Given the description of an element on the screen output the (x, y) to click on. 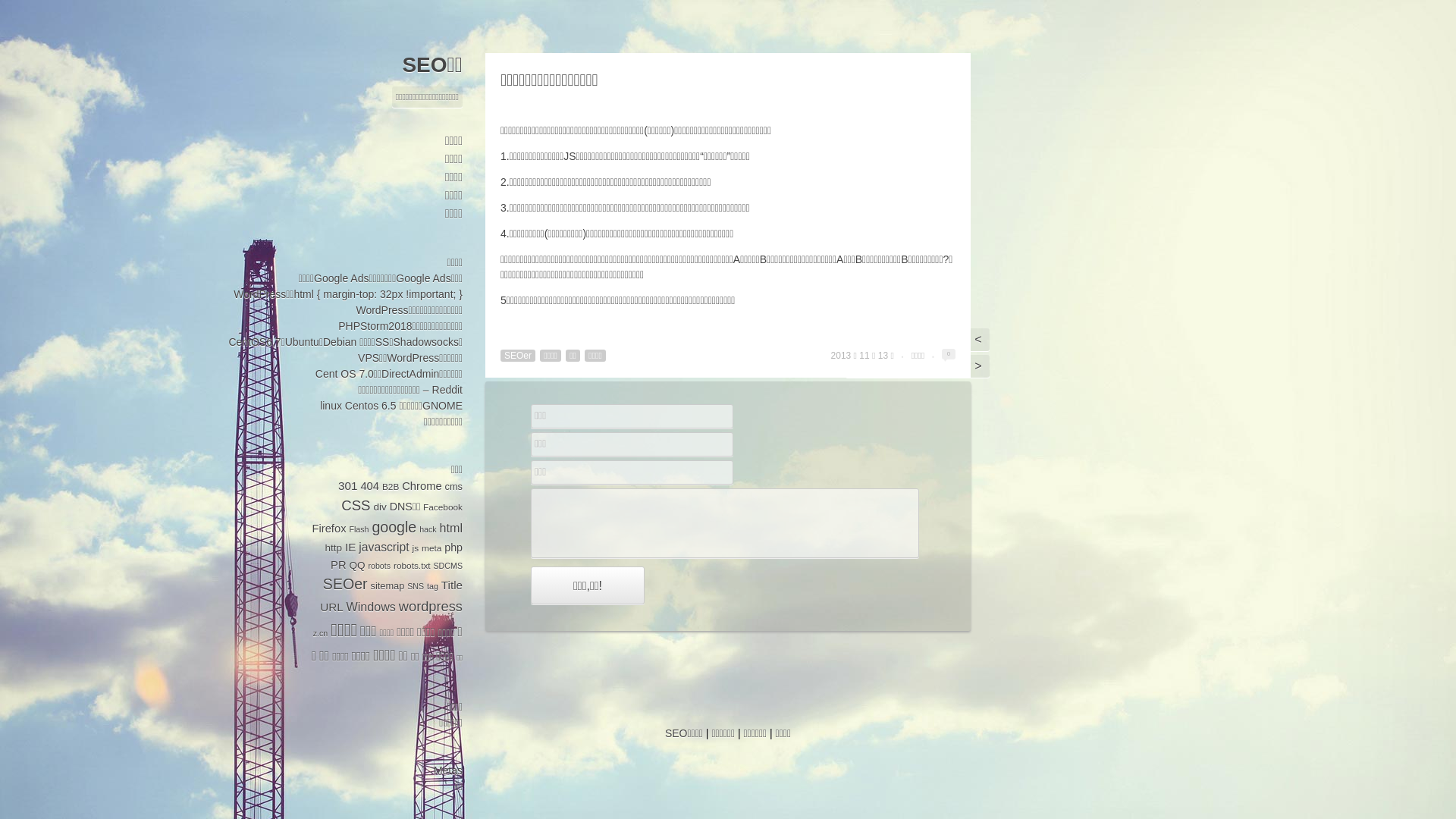
robots.txt Element type: text (411, 565)
div Element type: text (379, 506)
google Element type: text (393, 526)
meta Element type: text (431, 547)
html Element type: text (450, 527)
cms Element type: text (453, 486)
404 Element type: text (369, 486)
Windows Element type: text (370, 606)
Firefox Element type: text (328, 528)
SNS Element type: text (415, 585)
php Element type: text (453, 547)
SEOer Element type: text (345, 583)
hack Element type: text (427, 528)
Chrome Element type: text (421, 486)
URL Element type: text (331, 606)
http Element type: text (333, 547)
SDCMS Element type: text (447, 565)
z.cn Element type: text (320, 632)
Facebook Element type: text (442, 507)
PR Element type: text (338, 564)
301 Element type: text (347, 485)
Flash Element type: text (358, 528)
Title Element type: text (451, 584)
QQ Element type: text (356, 565)
robots Element type: text (378, 565)
B2B Element type: text (390, 486)
sitemap Element type: text (387, 585)
IE Element type: text (350, 546)
0 Element type: text (948, 353)
javascript Element type: text (383, 546)
tag Element type: text (432, 585)
js Element type: text (415, 547)
CSS Element type: text (355, 505)
wordpress Element type: text (430, 606)
SEOer Element type: text (517, 355)
